Given the description of an element on the screen output the (x, y) to click on. 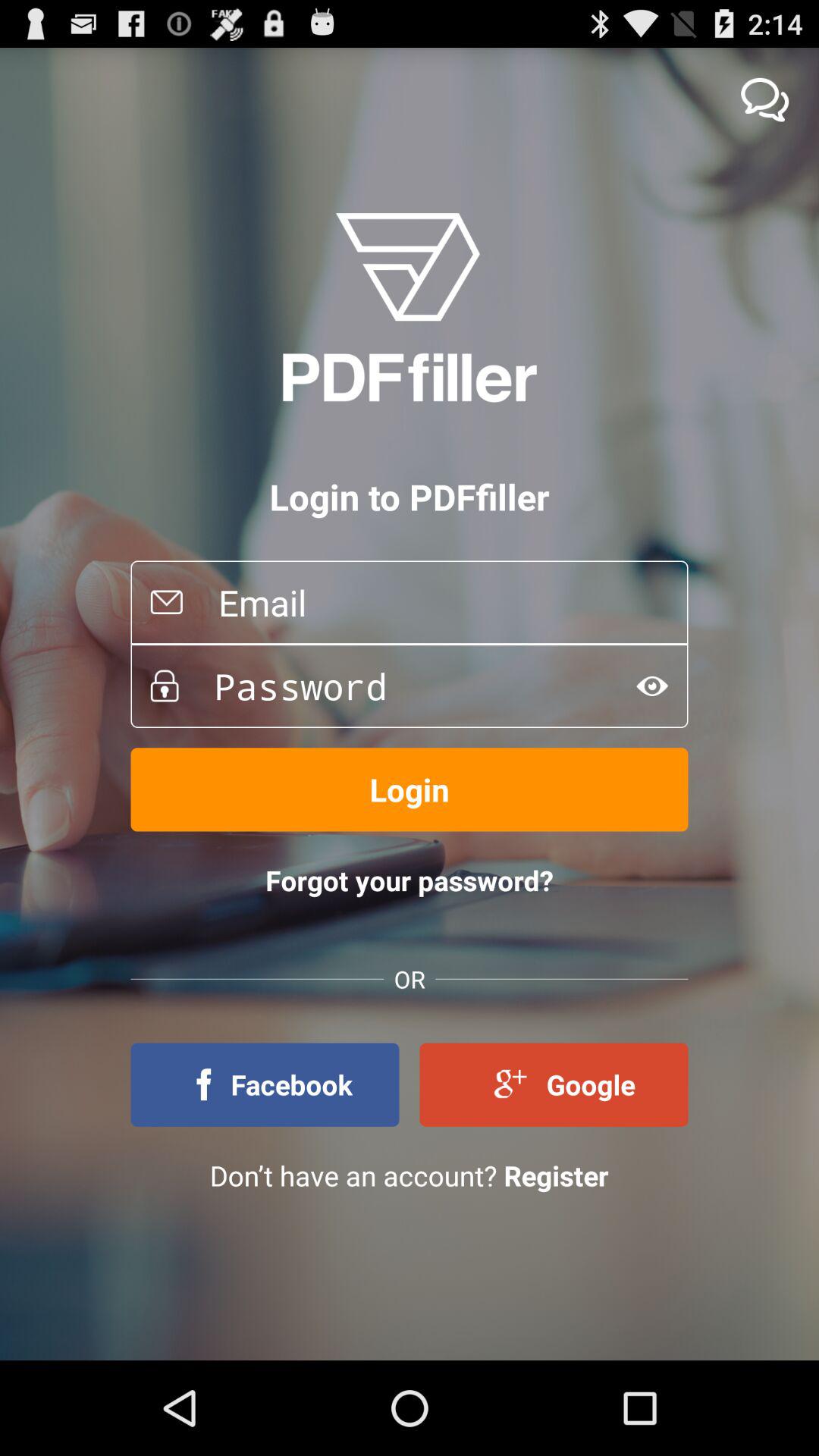
click to password option (397, 686)
